Given the description of an element on the screen output the (x, y) to click on. 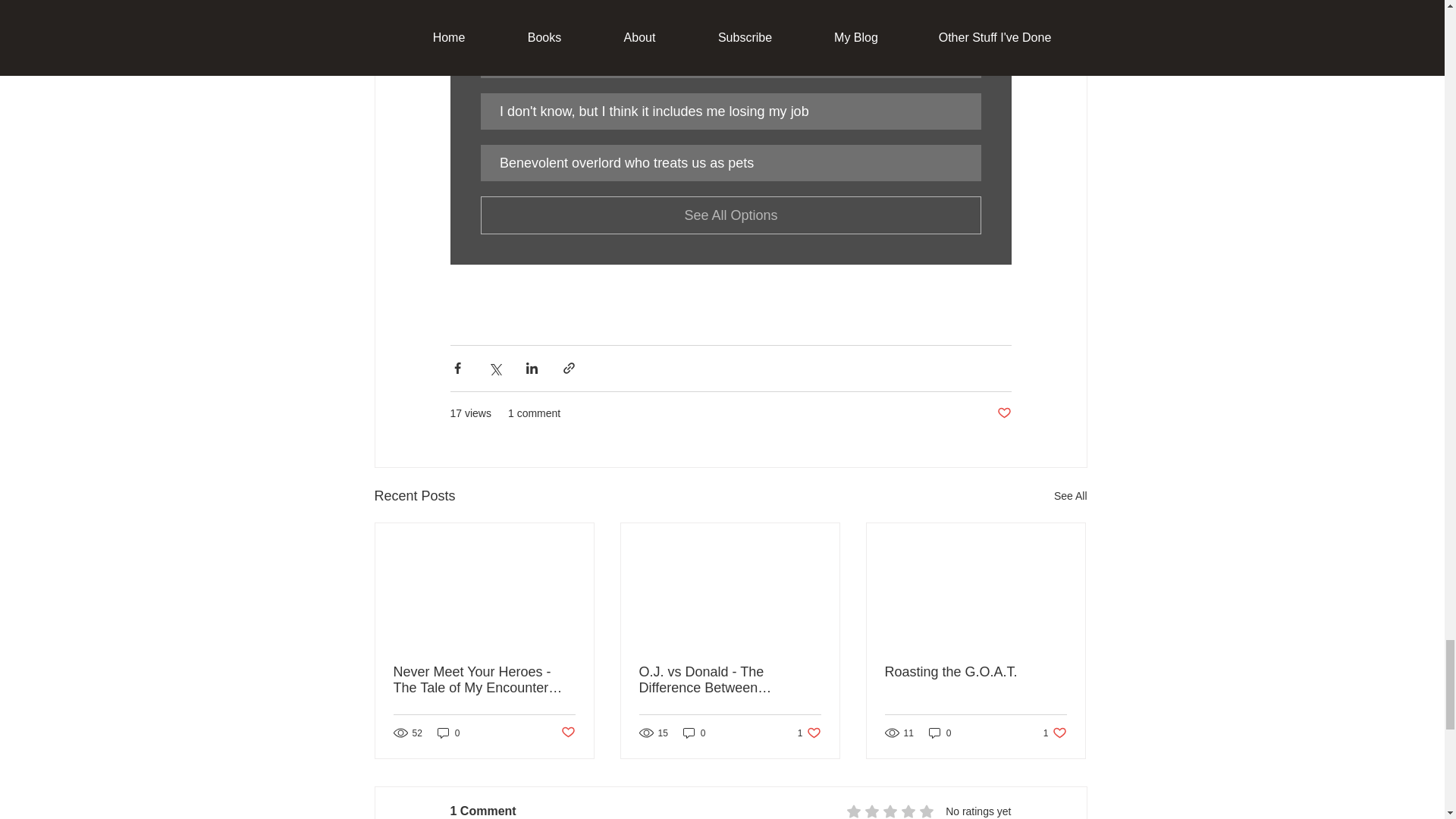
See All (1070, 495)
See All Options (730, 215)
Post not marked as liked (809, 732)
Post not marked as liked (1055, 732)
0 (567, 732)
0 (1002, 413)
Roasting the G.O.A.T. (940, 732)
0 (694, 732)
